Given the description of an element on the screen output the (x, y) to click on. 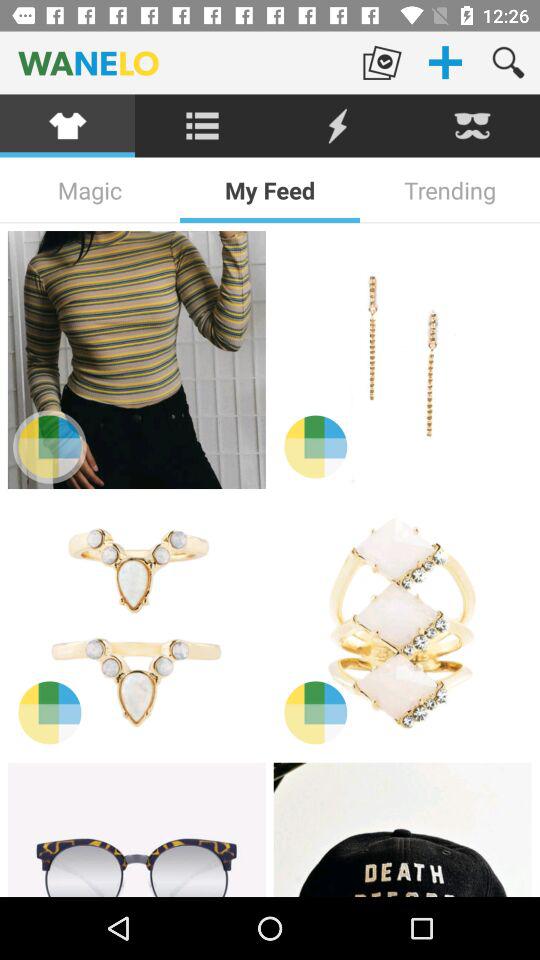
choose the icon to the left of the my feed (90, 190)
